Given the description of an element on the screen output the (x, y) to click on. 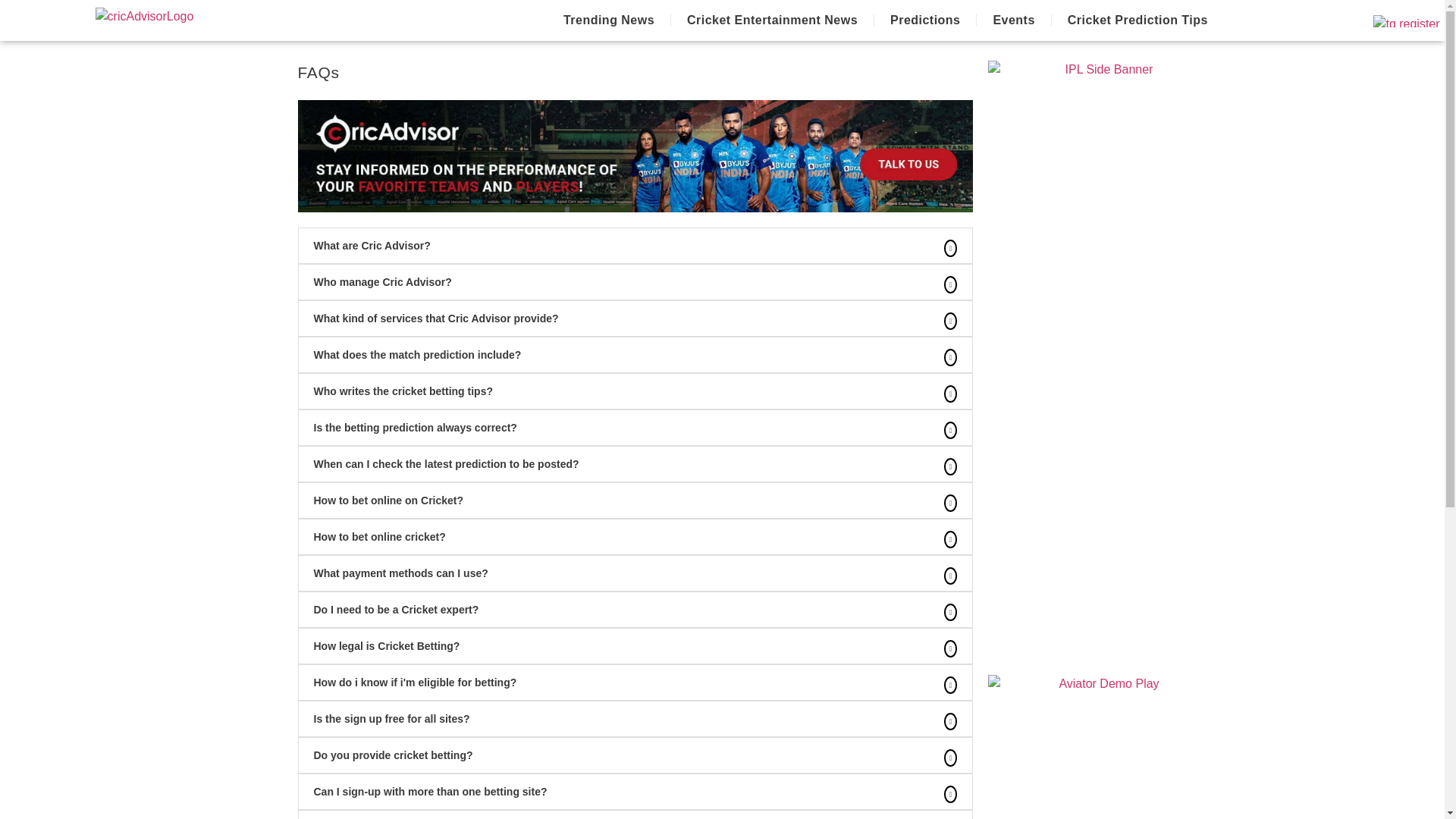
What does the match prediction include? (417, 354)
Events (1012, 20)
When can I check the latest prediction to be posted? (446, 463)
Is the sign up free for all sites? (392, 718)
How to bet online cricket? (379, 536)
Do you provide cricket betting? (393, 755)
Trending News (608, 20)
How to bet online on Cricket? (389, 500)
Is the betting prediction always correct? (415, 427)
Can I sign-up with more than one betting site? (430, 791)
Cricket Entertainment News (771, 20)
Who manage Cric Advisor? (382, 282)
How legal is Cricket Betting? (387, 645)
How do i know if i'm eligible for betting? (415, 682)
Predictions (925, 20)
